Given the description of an element on the screen output the (x, y) to click on. 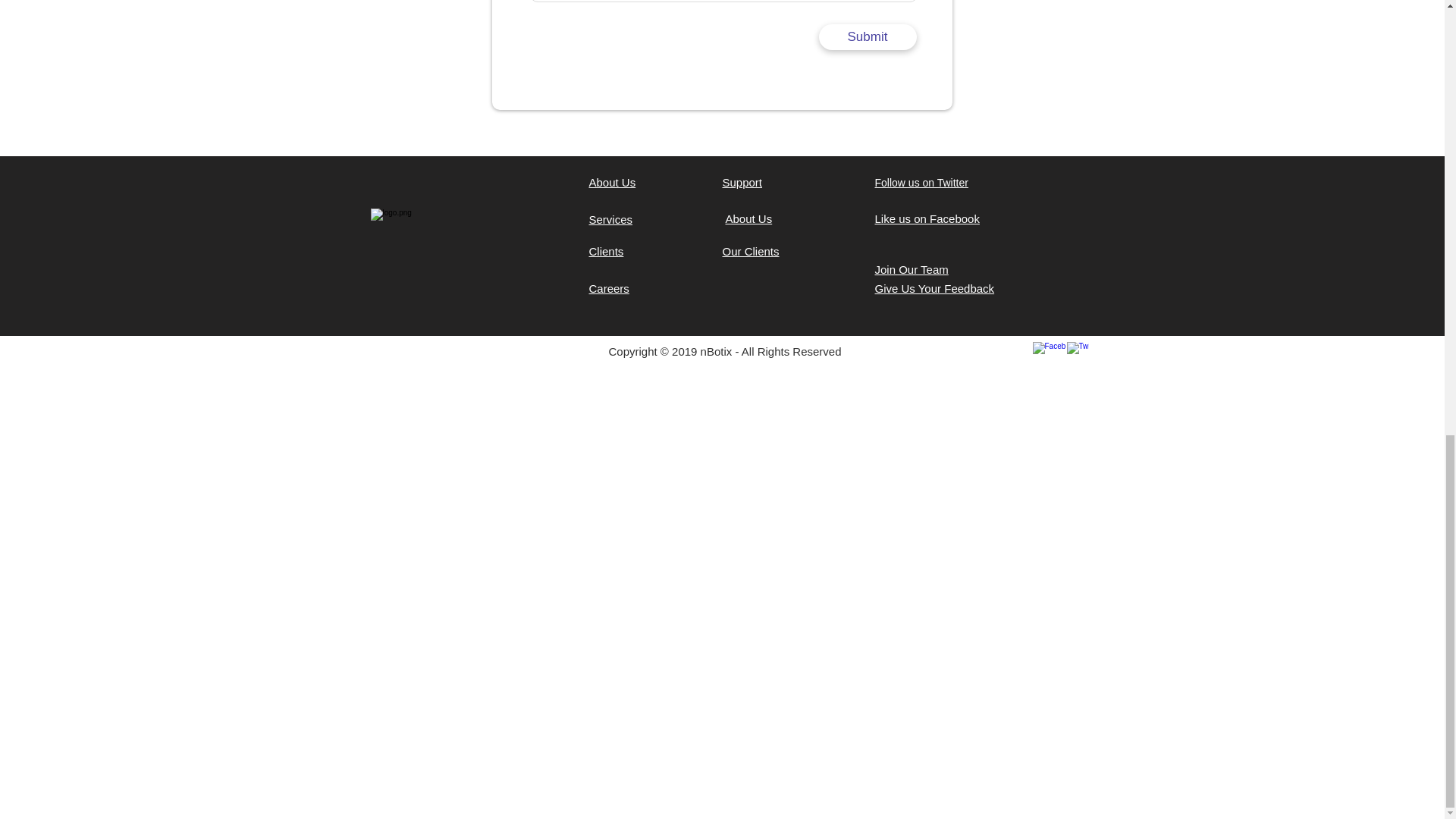
Support (741, 182)
About Us (748, 218)
Follow us on Twitter (921, 182)
Join Our Team (912, 269)
Submit (867, 36)
Give Us Your Feedback (934, 287)
Like us on Facebook (927, 218)
Our Clients (750, 250)
Clients (605, 250)
About Us (611, 182)
